Given the description of an element on the screen output the (x, y) to click on. 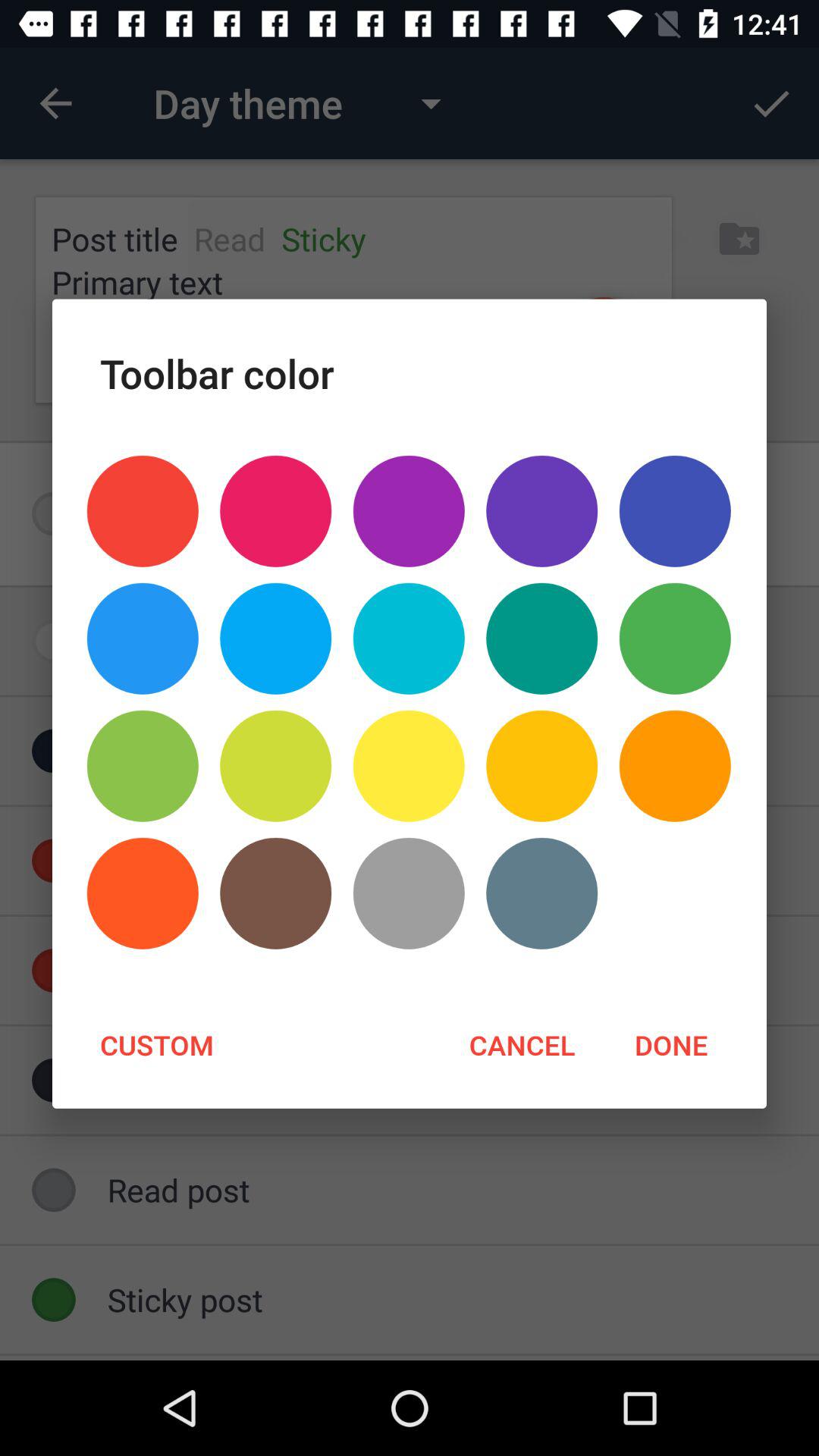
select the item next to custom item (522, 1044)
